Given the description of an element on the screen output the (x, y) to click on. 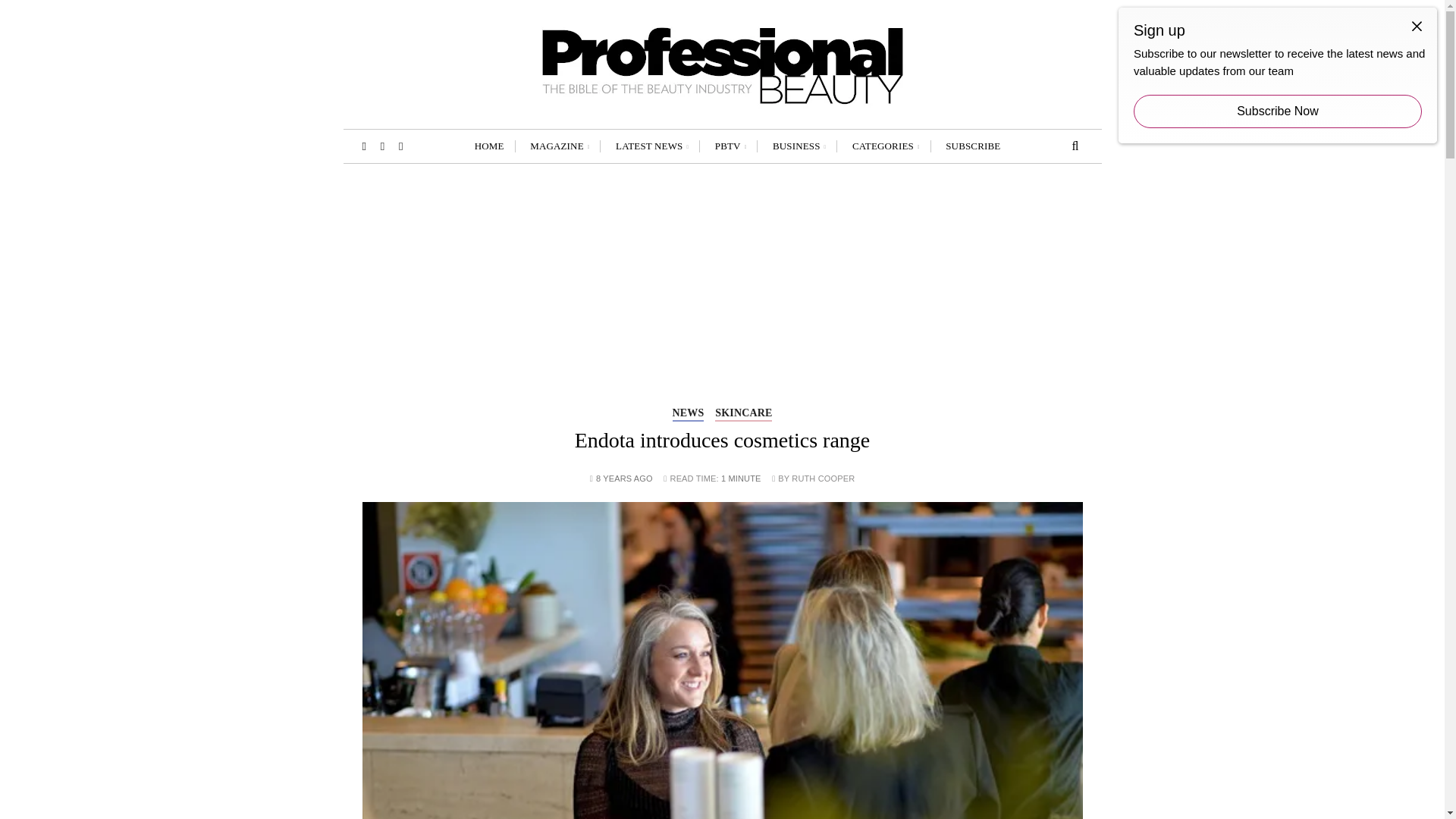
PBTV (730, 145)
HOME (489, 145)
Popup CTA (1277, 75)
CATEGORIES (886, 145)
Professional Beauty (529, 139)
BUSINESS (799, 145)
MAGAZINE (558, 145)
SUBSCRIBE (972, 145)
LATEST NEWS (652, 145)
